Given the description of an element on the screen output the (x, y) to click on. 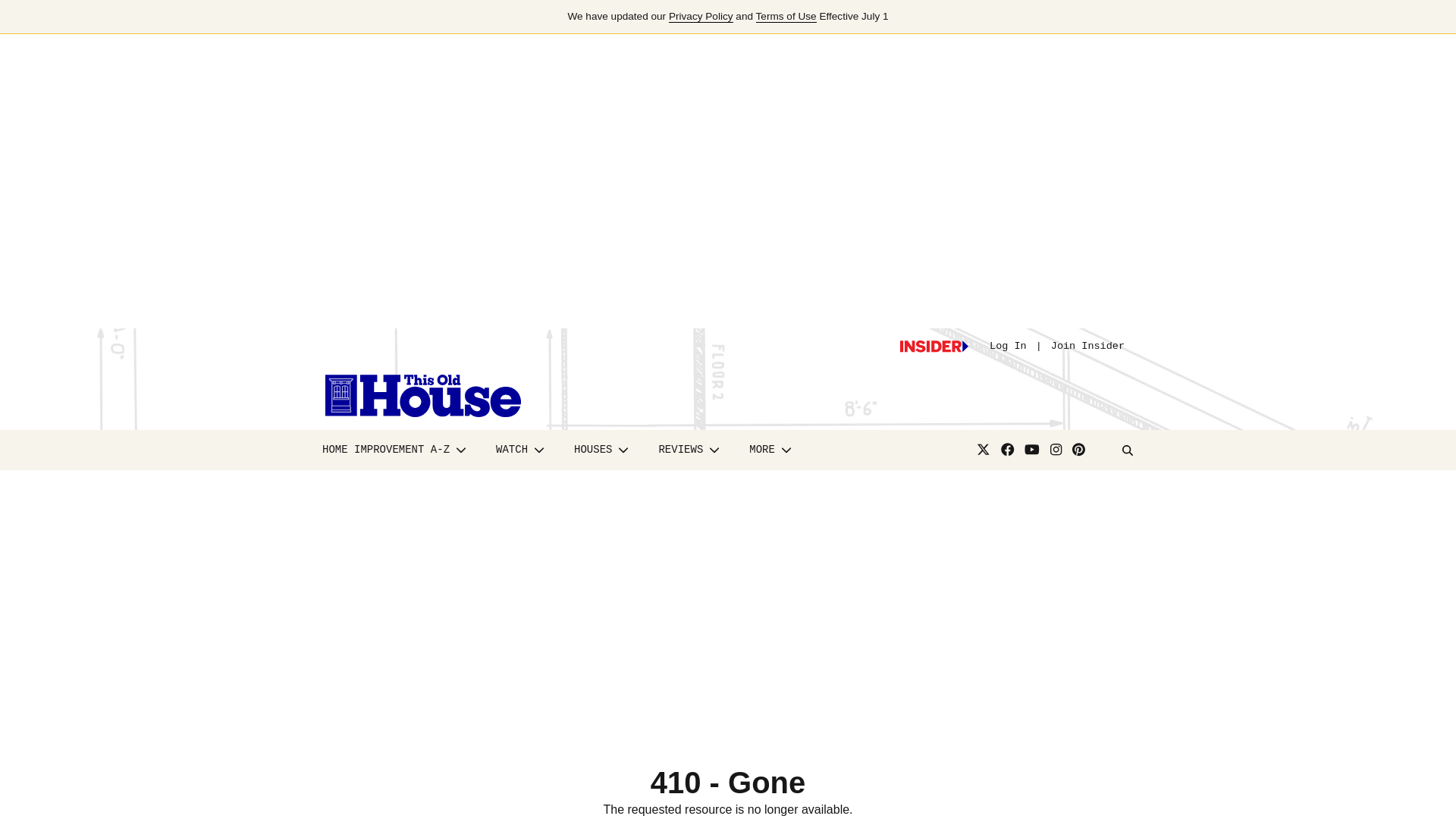
Join Insider (1087, 346)
Log In (1008, 346)
Log in or sign up (933, 346)
Terms of Use (785, 16)
Privacy Policy (700, 16)
